Given the description of an element on the screen output the (x, y) to click on. 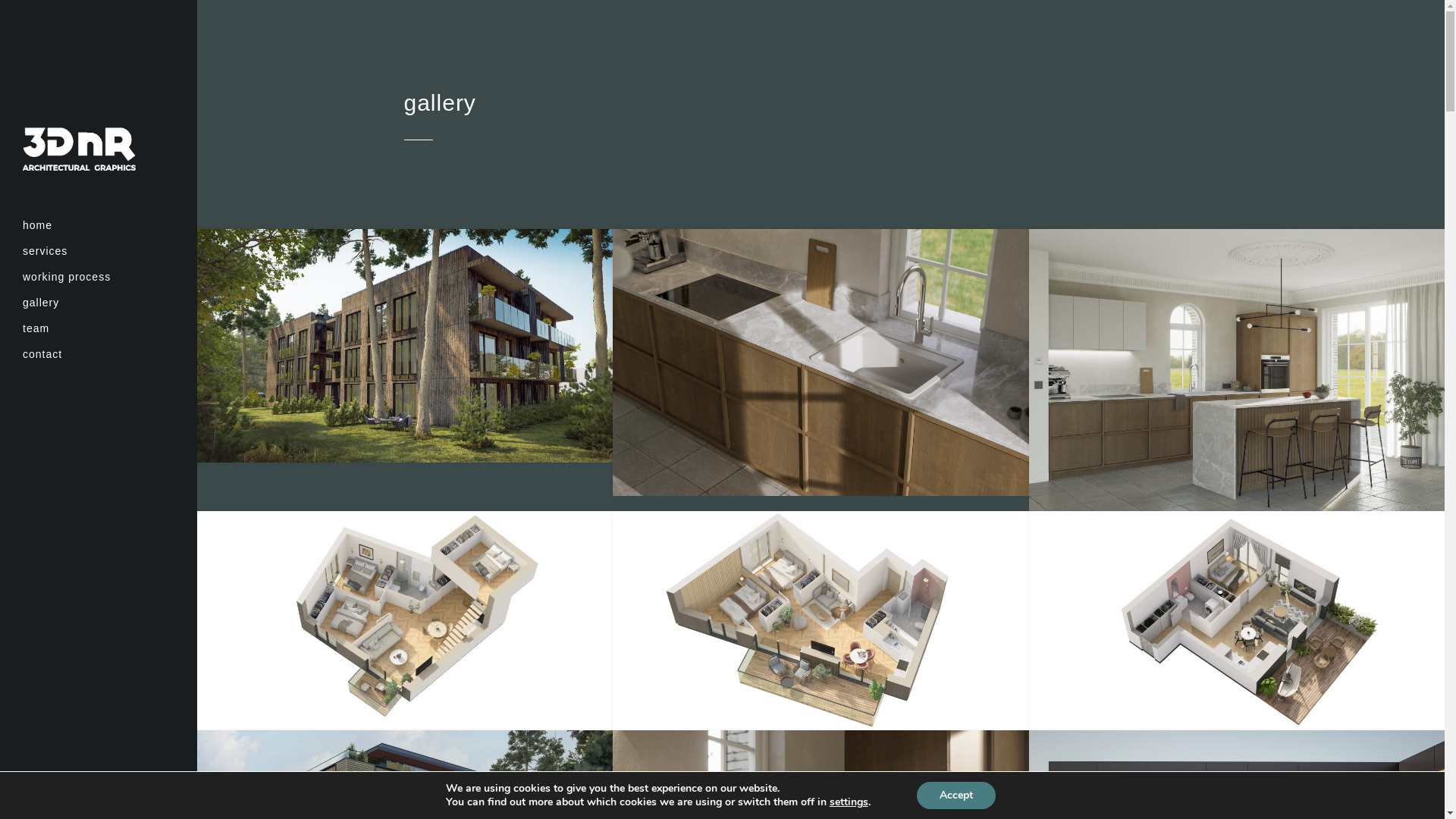
contact Element type: text (98, 354)
Kitchen 2.1 Element type: hover (1236, 370)
Kitchen 2.2 Element type: hover (820, 362)
gallery Element type: text (98, 302)
working process Element type: text (98, 276)
Exterior 3D Element type: hover (404, 345)
services Element type: text (98, 250)
home Element type: text (98, 225)
team Element type: text (98, 328)
Accept Element type: text (955, 795)
